Given the description of an element on the screen output the (x, y) to click on. 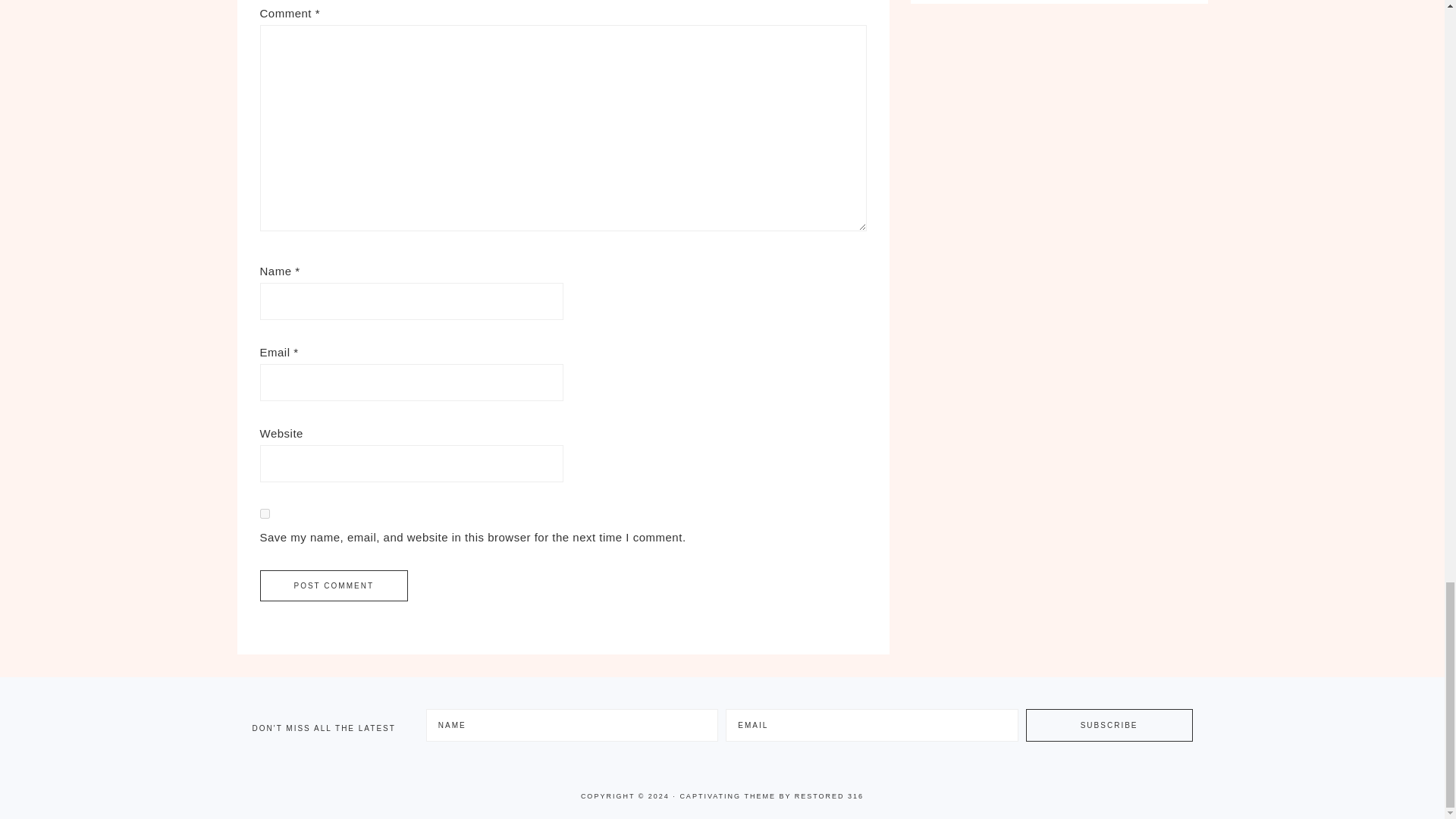
Subscribe (1109, 725)
Post Comment (333, 585)
Post Comment (333, 585)
Subscribe (1109, 725)
yes (264, 513)
